Given the description of an element on the screen output the (x, y) to click on. 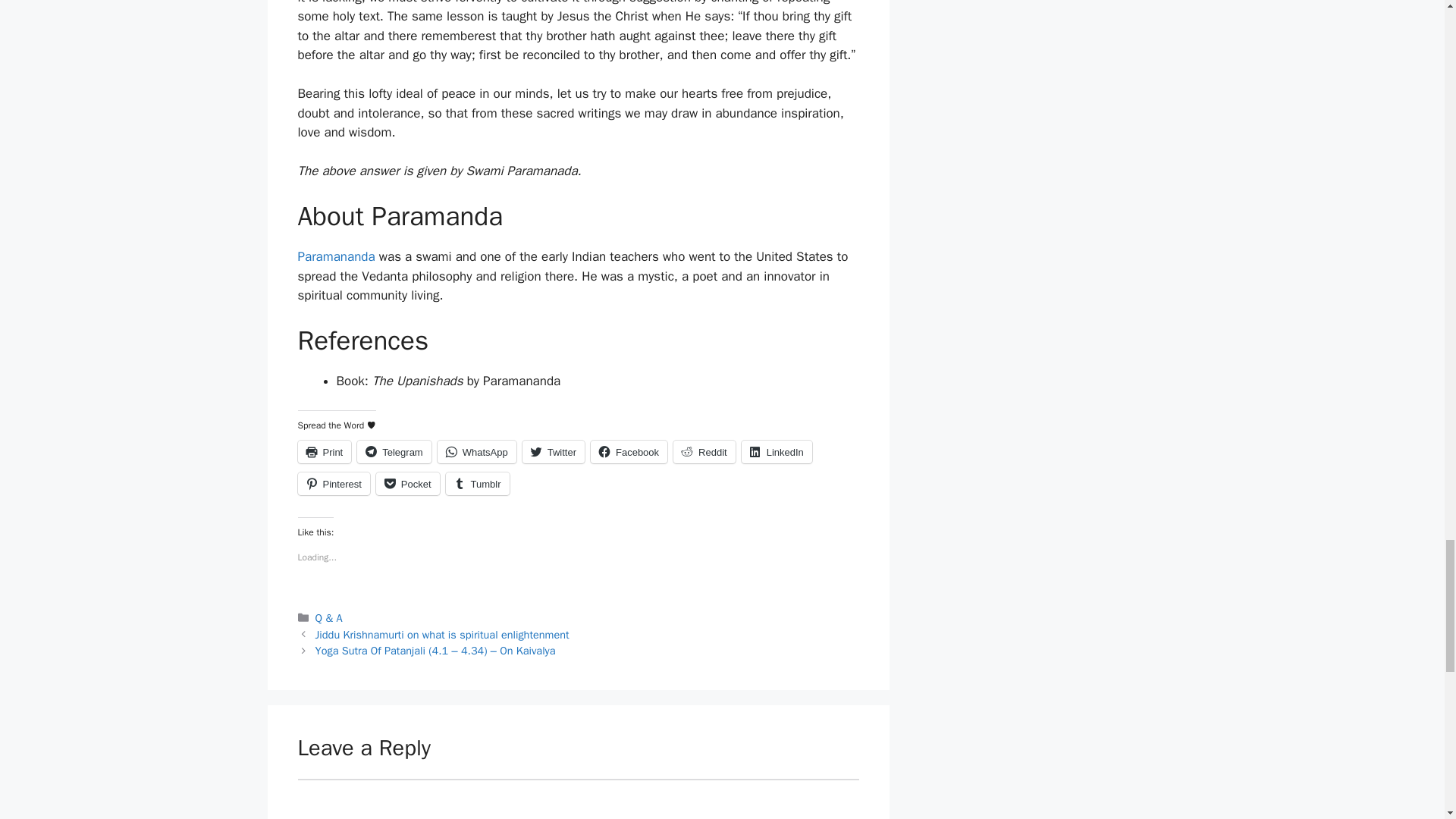
Telegram (393, 451)
Comment Form (578, 798)
Facebook (628, 451)
Click to share on Pocket (407, 483)
LinkedIn (776, 451)
Print (323, 451)
Click to share on WhatsApp (477, 451)
Reddit (703, 451)
Pocket (407, 483)
Click to share on Tumblr (477, 483)
